Given the description of an element on the screen output the (x, y) to click on. 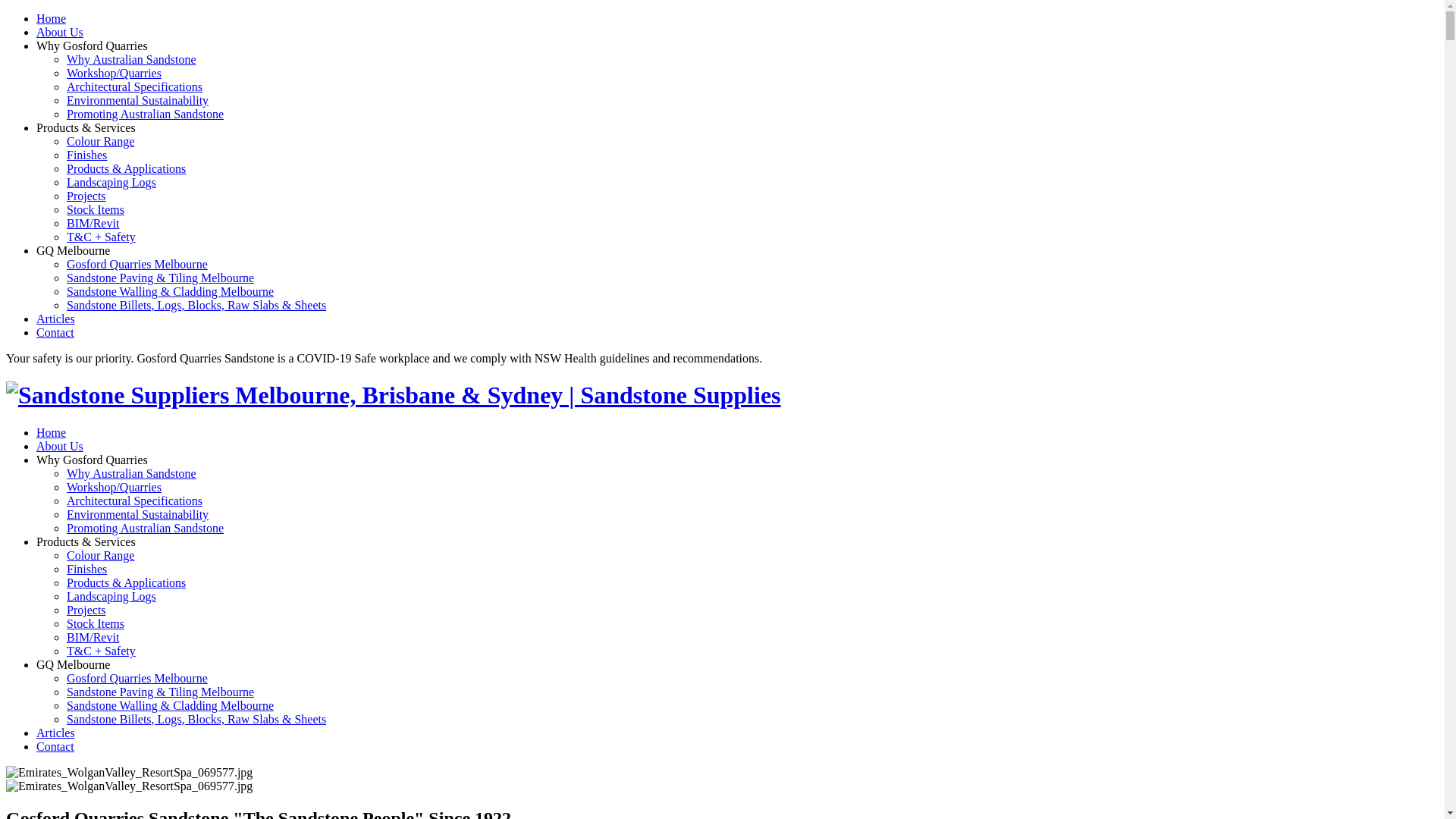
Sandstone Billets, Logs, Blocks, Raw Slabs & Sheets Element type: text (196, 718)
Projects Element type: text (86, 609)
Architectural Specifications Element type: text (134, 500)
Products & Services Element type: text (85, 127)
Environmental Sustainability Element type: text (137, 100)
Home Element type: text (50, 18)
Sandstone Walling & Cladding Melbourne Element type: text (169, 705)
Workshop/Quarries Element type: text (113, 486)
About Us Element type: text (59, 445)
Articles Element type: text (55, 318)
Sandstone Billets, Logs, Blocks, Raw Slabs & Sheets Element type: text (196, 304)
T&C + Safety Element type: text (100, 236)
Projects Element type: text (86, 195)
GQ Melbourne Element type: text (72, 250)
T&C + Safety Element type: text (100, 650)
Promoting Australian Sandstone Element type: text (144, 527)
GQ Melbourne Element type: text (72, 664)
Contact Element type: text (55, 746)
Products & Applications Element type: text (125, 582)
Articles Element type: text (55, 732)
Landscaping Logs Element type: text (111, 595)
Gosford Quarries Melbourne Element type: text (136, 677)
BIM/Revit Element type: text (92, 636)
Sandstone Paving & Tiling Melbourne Element type: text (160, 691)
Landscaping Logs Element type: text (111, 181)
BIM/Revit Element type: text (92, 222)
Home Element type: text (50, 432)
Why Australian Sandstone Element type: text (131, 59)
Sandstone Walling & Cladding Melbourne Element type: text (169, 291)
Promoting Australian Sandstone Element type: text (144, 113)
Gosford Quarries Melbourne Element type: text (136, 263)
Workshop/Quarries Element type: text (113, 72)
Stock Items Element type: text (95, 209)
Environmental Sustainability Element type: text (137, 514)
Contact Element type: text (55, 332)
Finishes Element type: text (86, 154)
Stock Items Element type: text (95, 623)
Why Australian Sandstone Element type: text (131, 473)
About Us Element type: text (59, 31)
Colour Range Element type: text (100, 555)
Why Gosford Quarries Element type: text (91, 45)
Colour Range Element type: text (100, 140)
Products & Services Element type: text (85, 541)
Products & Applications Element type: text (125, 168)
Finishes Element type: text (86, 568)
Why Gosford Quarries Element type: text (91, 459)
Sandstone Paving & Tiling Melbourne Element type: text (160, 277)
Architectural Specifications Element type: text (134, 86)
